Given the description of an element on the screen output the (x, y) to click on. 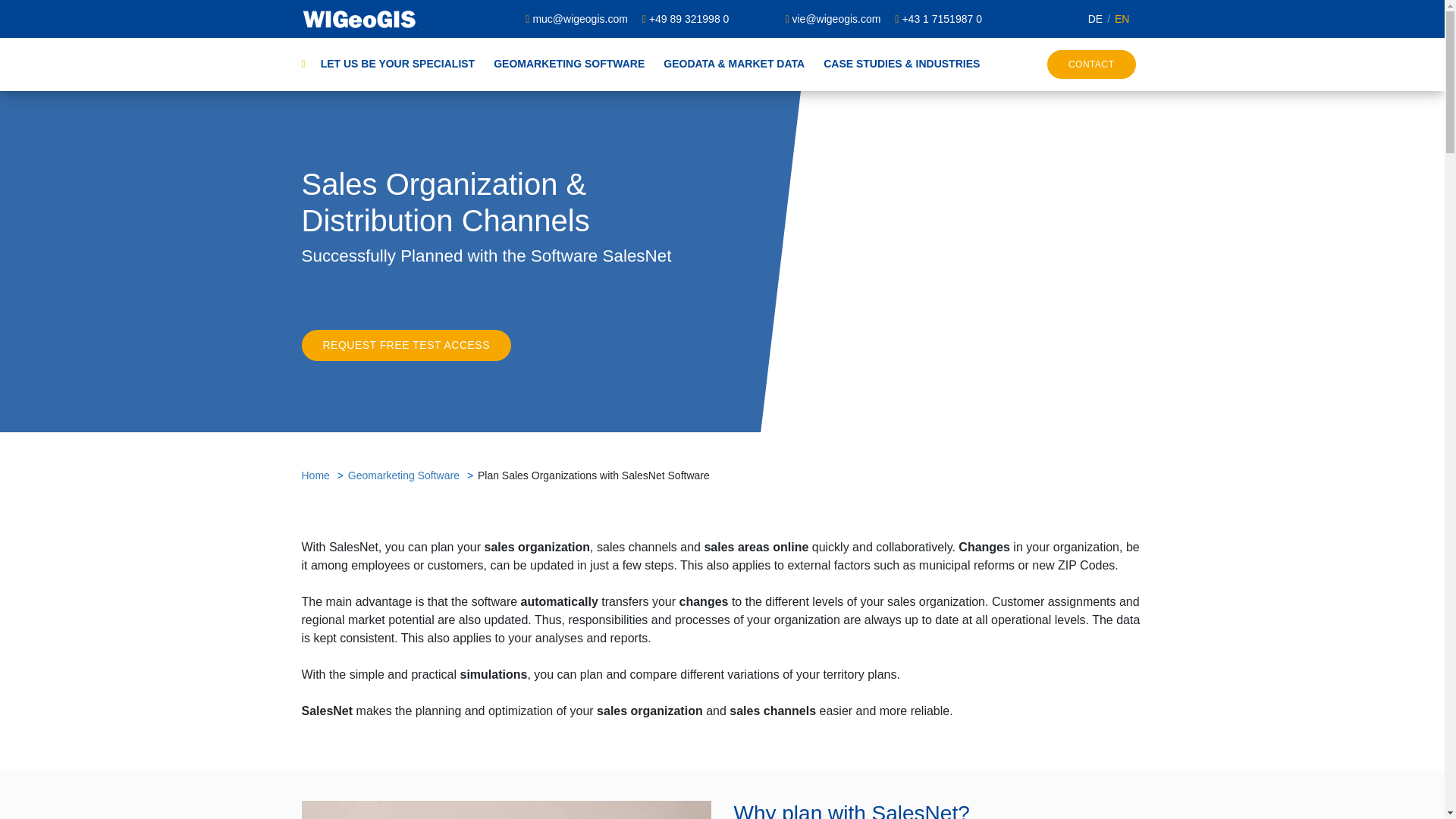
LET US BE YOUR SPECIALIST (396, 63)
DE (1094, 18)
deutsch (1094, 18)
GEOMARKETING SOFTWARE (559, 63)
REQUEST FREE TEST ACCESS (406, 345)
englisch (1115, 18)
